Given the description of an element on the screen output the (x, y) to click on. 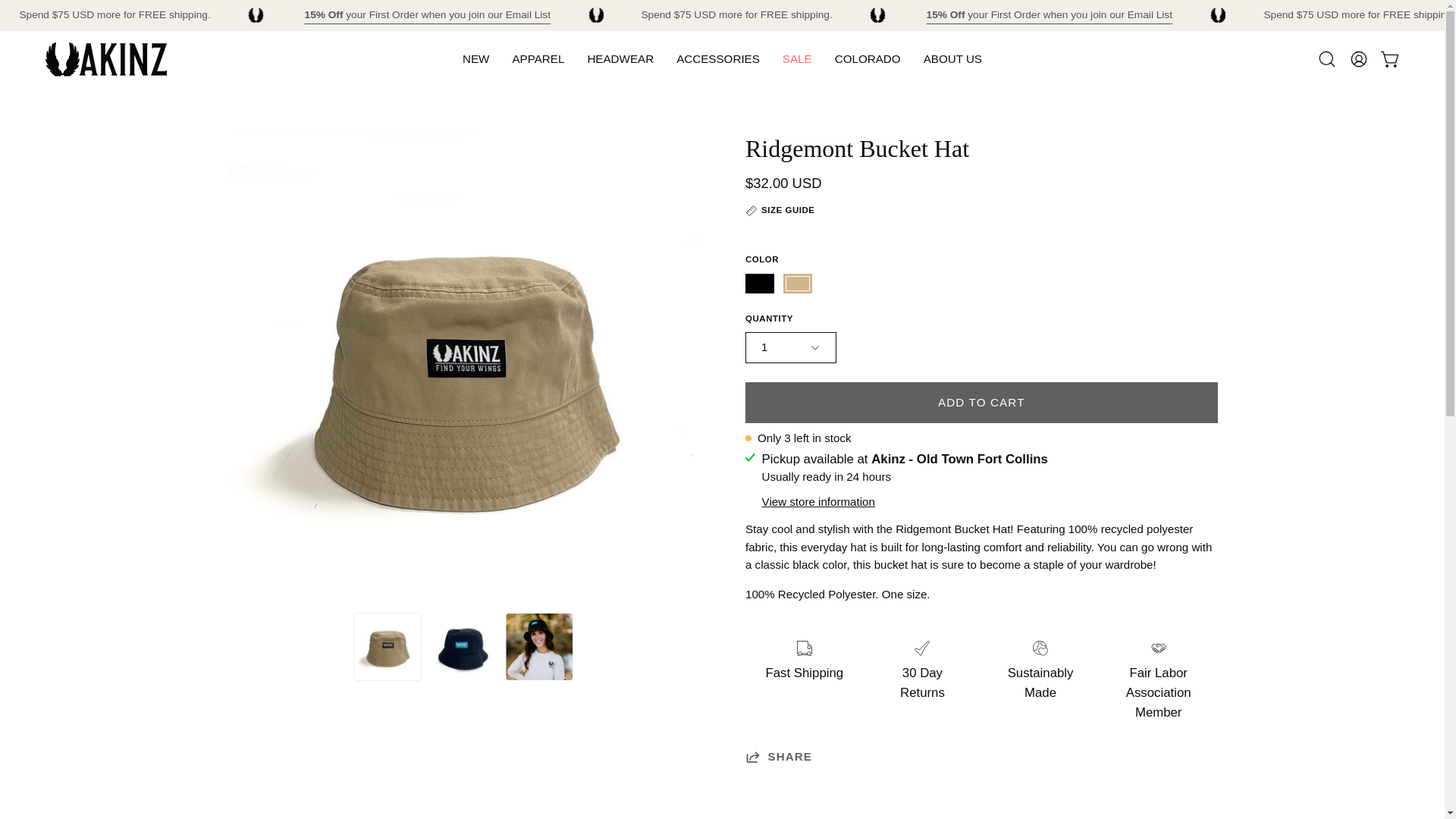
Subscribe (427, 15)
Open search bar (1326, 59)
Subscribe (1049, 15)
